Given the description of an element on the screen output the (x, y) to click on. 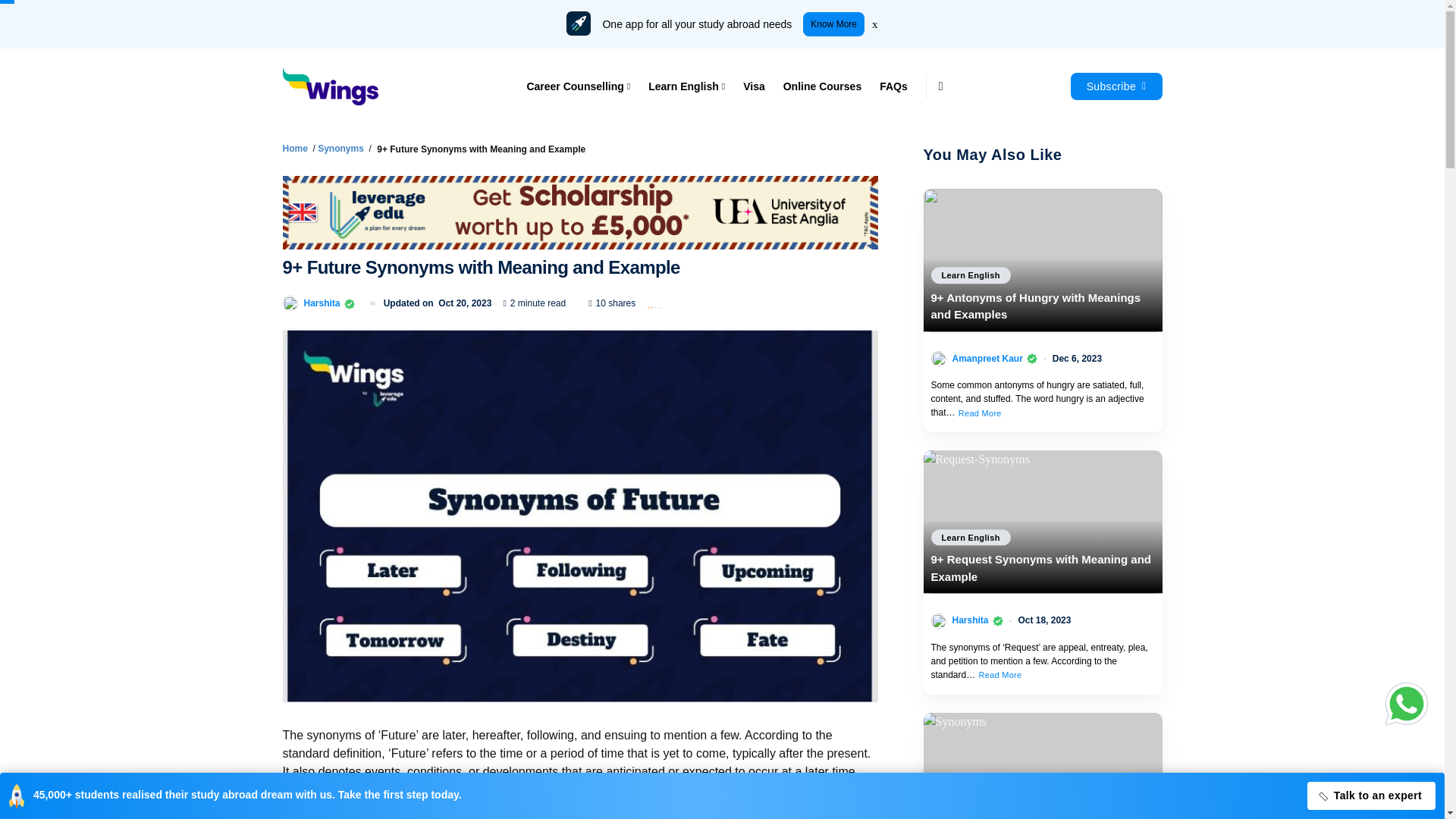
Learn English (686, 85)
View all posts by Harshita (320, 303)
Career Counselling (582, 85)
View all posts by Harshita (970, 620)
Know More (833, 24)
View all posts by Amanpreet Kaur (987, 358)
